Given the description of an element on the screen output the (x, y) to click on. 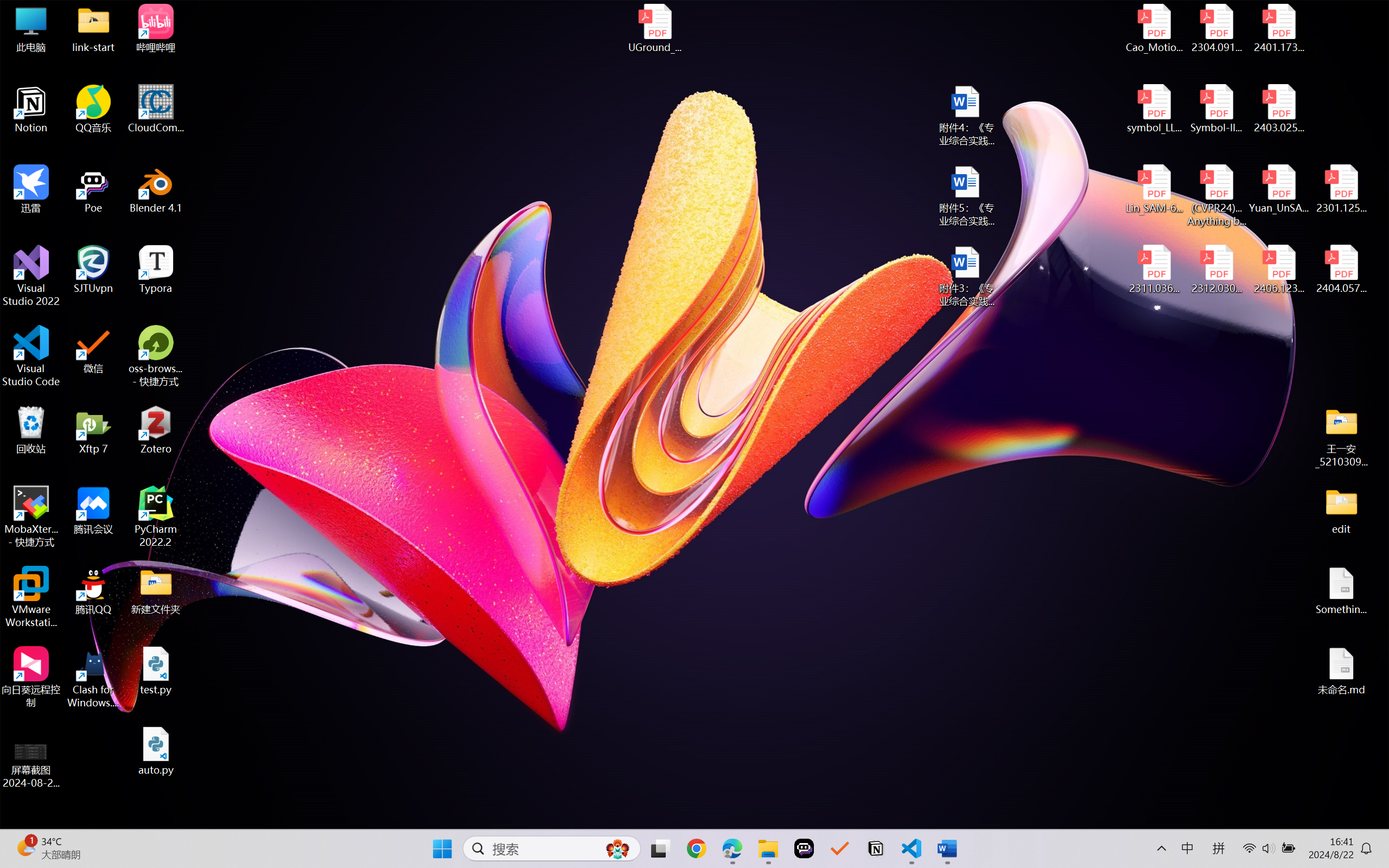
test.py (156, 670)
Blender 4.1 (156, 189)
2403.02502v1.pdf (1278, 109)
(CVPR24)Matching Anything by Segmenting Anything.pdf (1216, 195)
UGround_paper.pdf (654, 28)
SJTUvpn (93, 269)
